Given the description of an element on the screen output the (x, y) to click on. 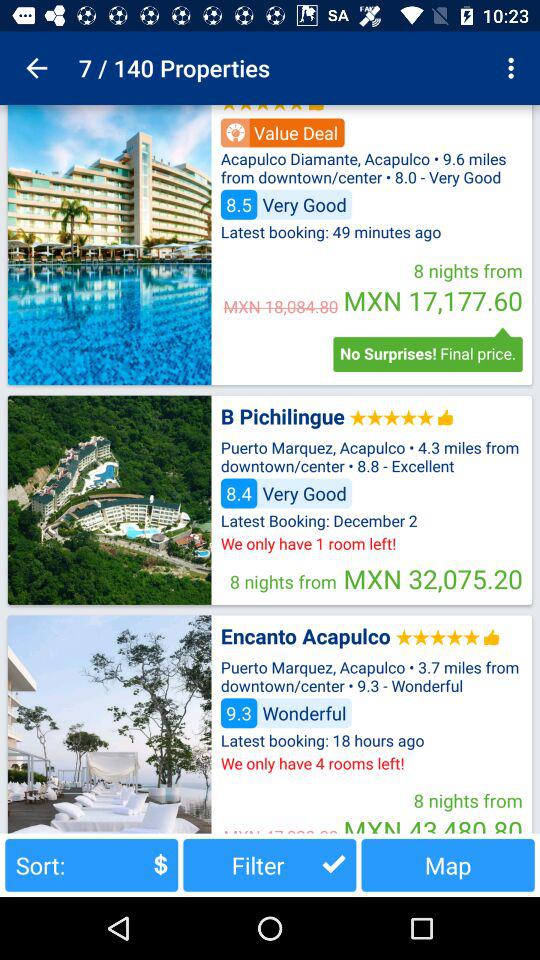
press item next to map (269, 864)
